Given the description of an element on the screen output the (x, y) to click on. 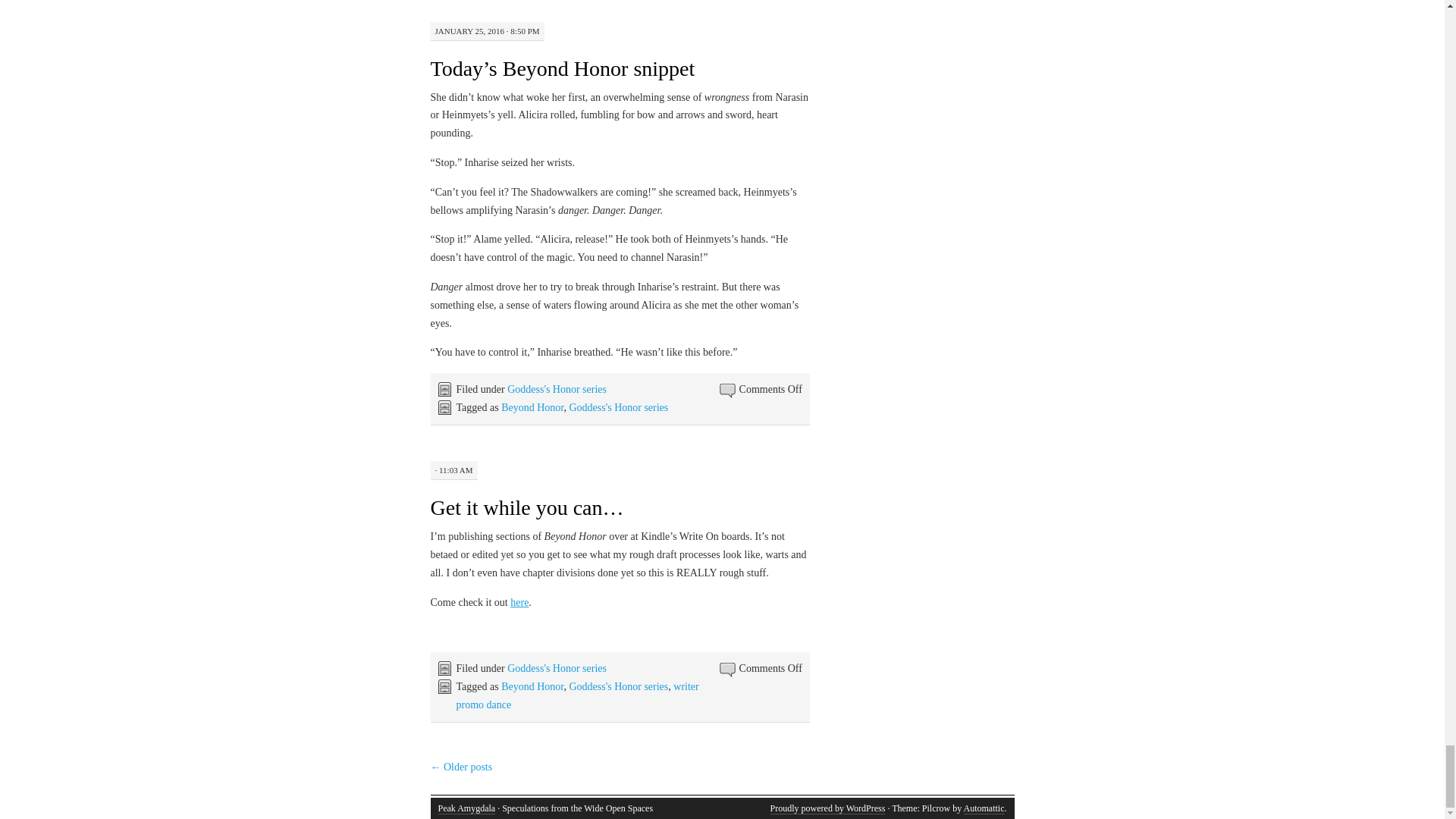
A Semantic Personal Publishing Platform (827, 808)
Peak Amygdala (467, 808)
